Given the description of an element on the screen output the (x, y) to click on. 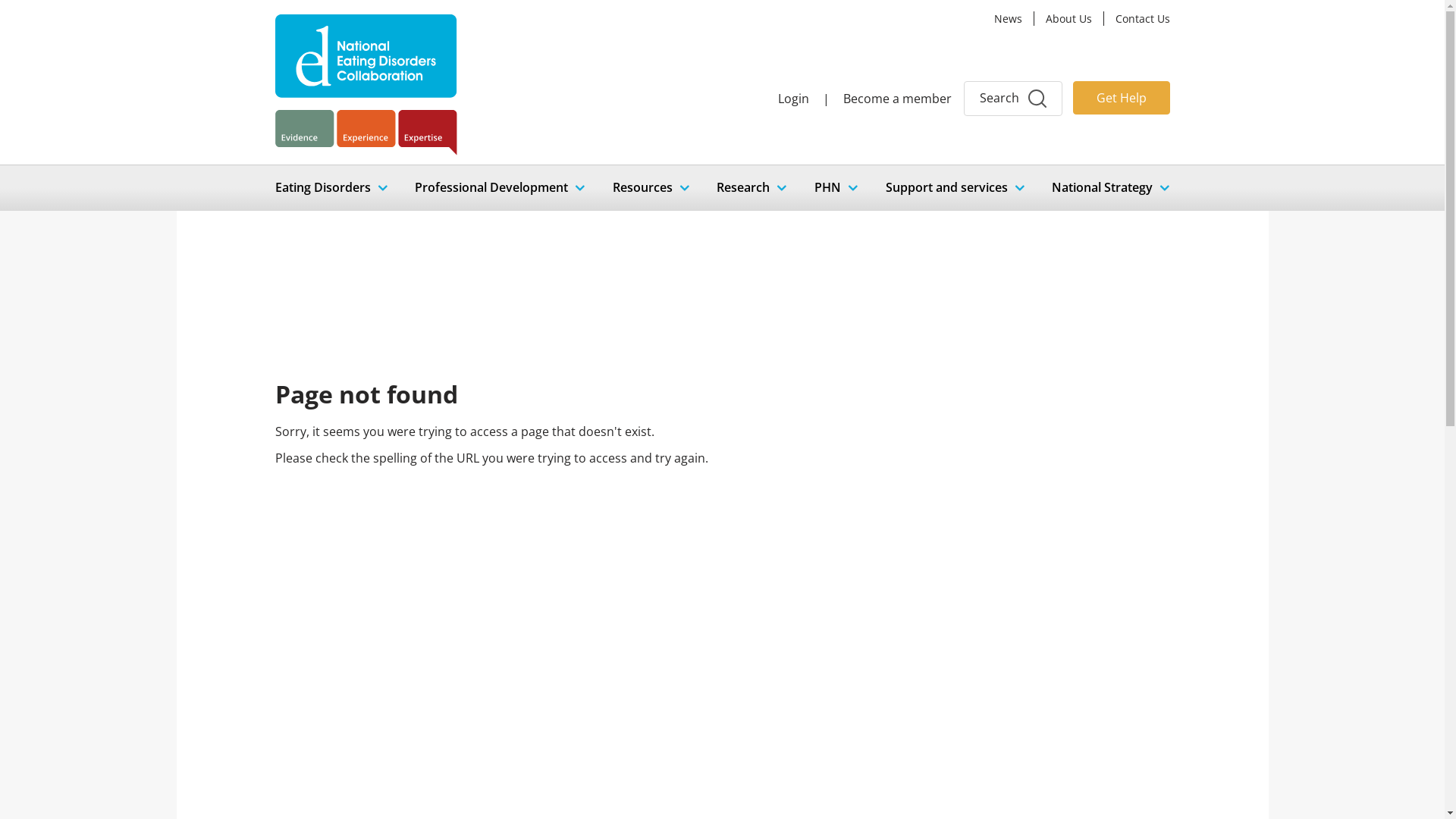
National Strategy Element type: text (1110, 187)
About Us Element type: text (1073, 18)
Eating Disorders Element type: text (330, 187)
Support and services Element type: text (954, 187)
Professional Development Element type: text (499, 187)
Contact Us Element type: text (1141, 18)
Become a member Element type: text (897, 98)
Login Element type: text (793, 98)
| Element type: text (825, 98)
Research Element type: text (751, 187)
Get Help Element type: text (1120, 97)
Search Element type: text (1012, 98)
News Element type: text (1013, 18)
Resources Element type: text (650, 187)
PHN Element type: text (835, 187)
